Given the description of an element on the screen output the (x, y) to click on. 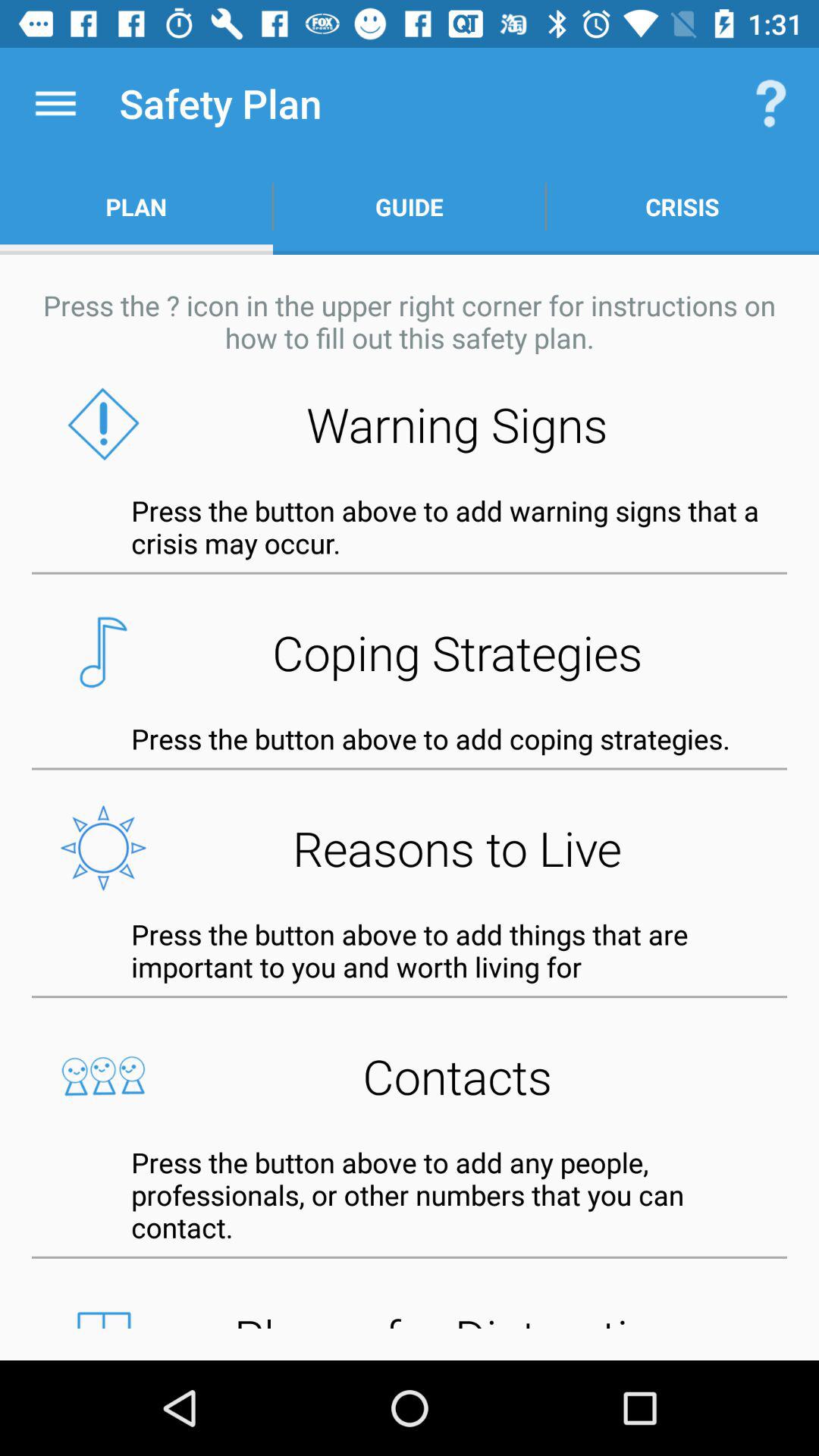
flip until the reasons to live item (409, 847)
